Given the description of an element on the screen output the (x, y) to click on. 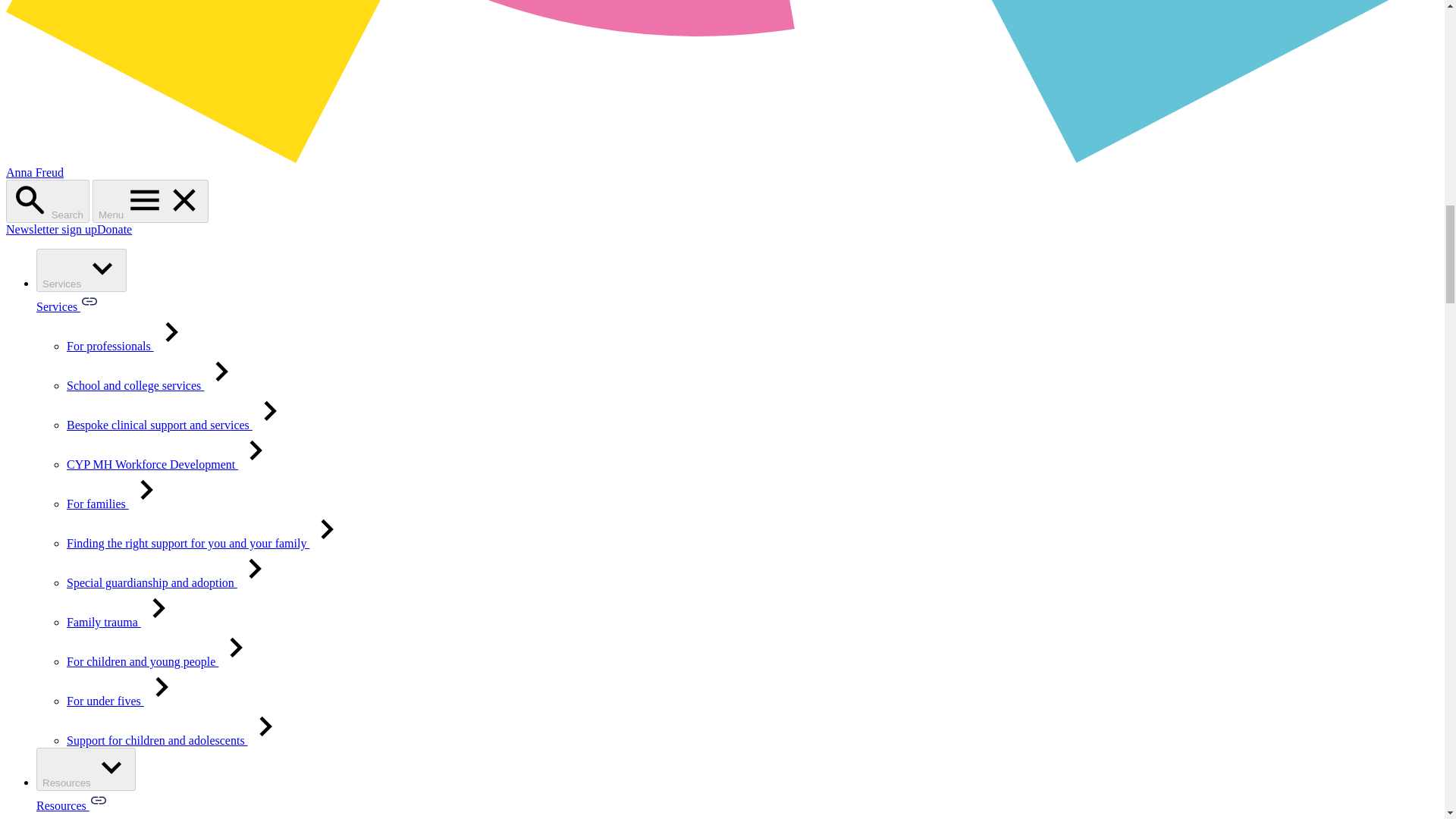
For children and young people (160, 661)
School and college services (153, 385)
Services (81, 269)
Search (46, 200)
CYP MH Workforce Development (170, 463)
For professionals (128, 345)
Special guardianship and adoption (169, 582)
Donate (114, 228)
Bespoke clinical support and services (177, 424)
Services (67, 306)
